Given the description of an element on the screen output the (x, y) to click on. 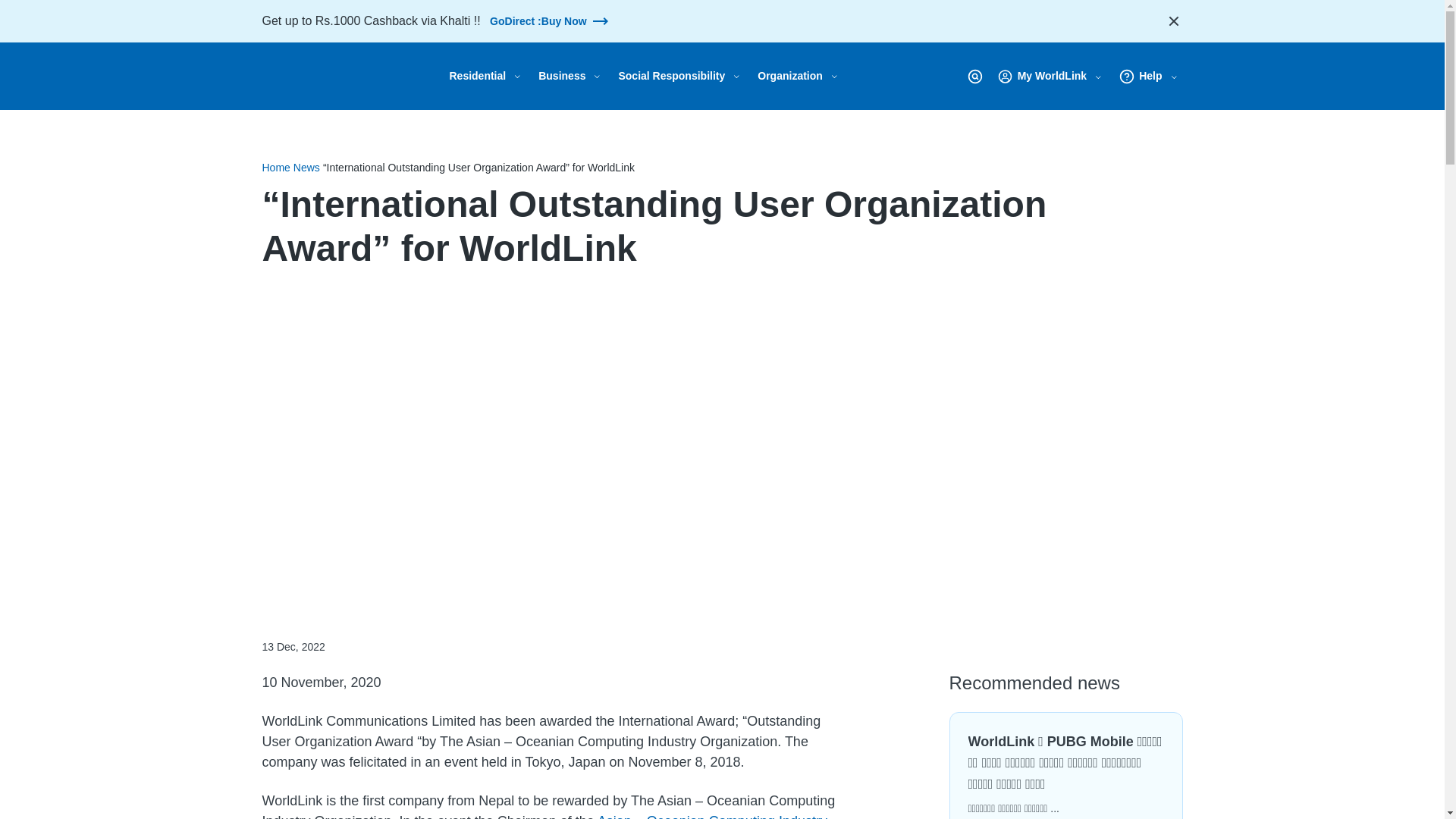
Social Responsibility (673, 75)
Home (339, 76)
Residential (479, 75)
GoDirect :Buy Now (548, 20)
Business (563, 75)
